Given the description of an element on the screen output the (x, y) to click on. 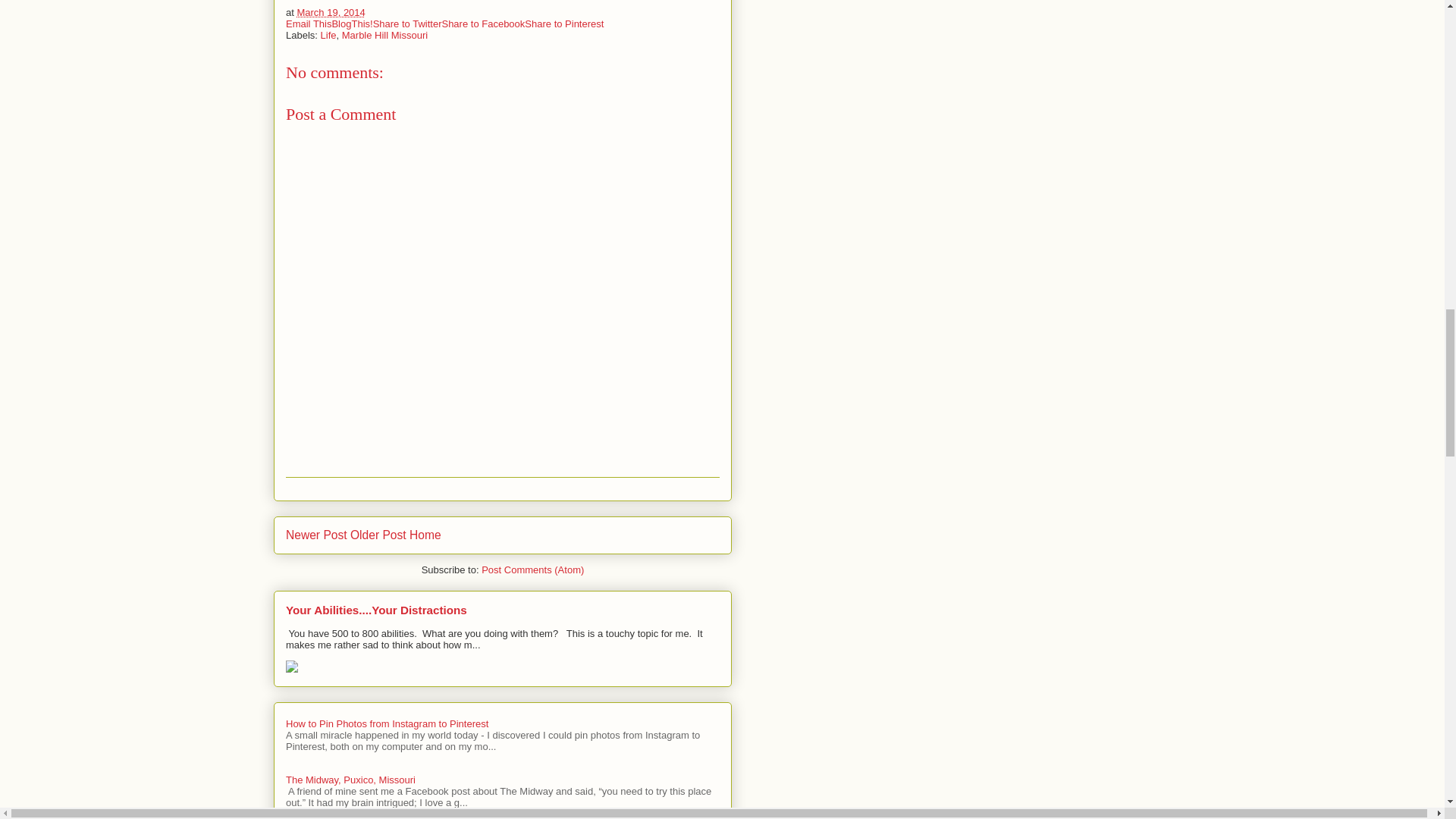
March 19, 2014 (331, 12)
Older Post (378, 534)
Email Post (374, 12)
Share to Pinterest (564, 23)
permanent link (331, 12)
Newer Post (316, 534)
The Midway, Puxico, Missouri (349, 779)
BlogThis! (351, 23)
Share to Pinterest (564, 23)
Share to Twitter (407, 23)
Email This (308, 23)
Marble Hill Missouri (385, 34)
Your Abilities....Your Distractions (376, 609)
Older Post (378, 534)
Life (328, 34)
